Given the description of an element on the screen output the (x, y) to click on. 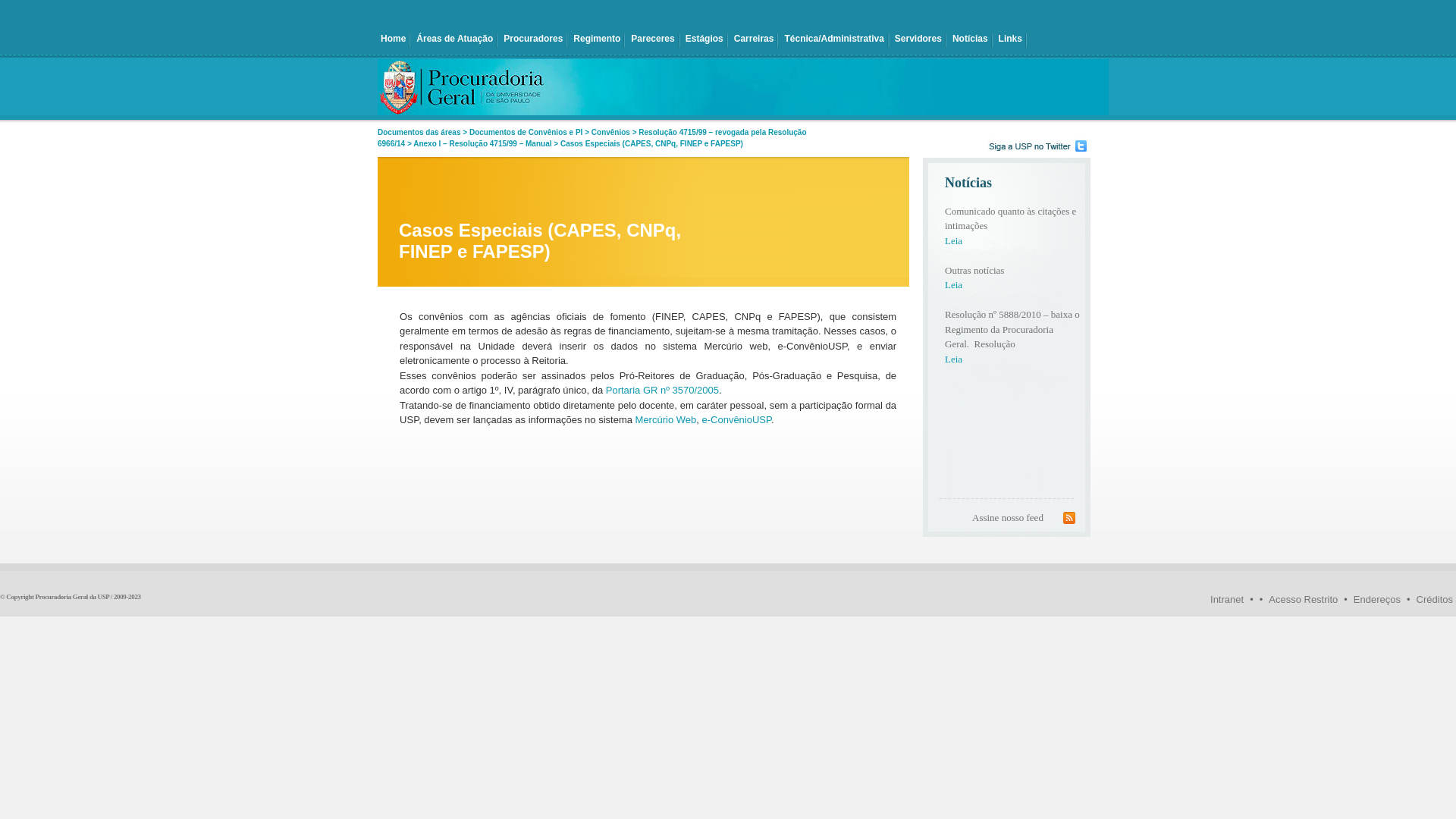
Carreiras Element type: text (753, 40)
Intranet Element type: text (1226, 599)
Leia Element type: text (953, 246)
Pareceres Element type: text (652, 40)
Procuradoria Geral da USP Element type: text (71, 596)
Regimento Element type: text (596, 40)
Home Element type: text (393, 40)
Leia Element type: text (953, 290)
Procuradores Element type: text (532, 40)
Acesso Restrito Element type: text (1302, 599)
Leia Element type: text (953, 364)
Links Element type: text (1010, 40)
Servidores Element type: text (918, 40)
